Given the description of an element on the screen output the (x, y) to click on. 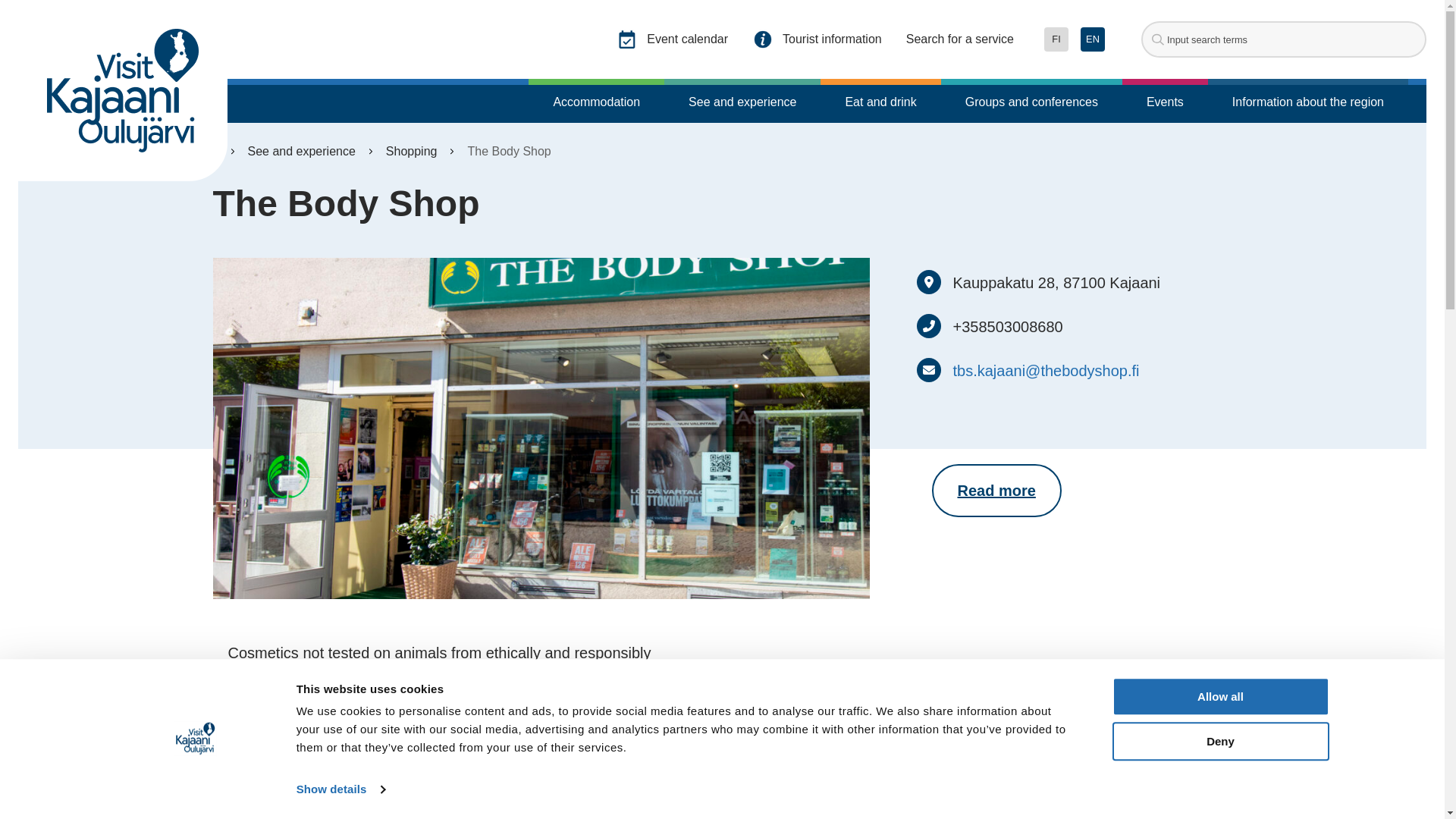
Deny (1219, 740)
Show details (340, 789)
Allow all (1219, 696)
